Given the description of an element on the screen output the (x, y) to click on. 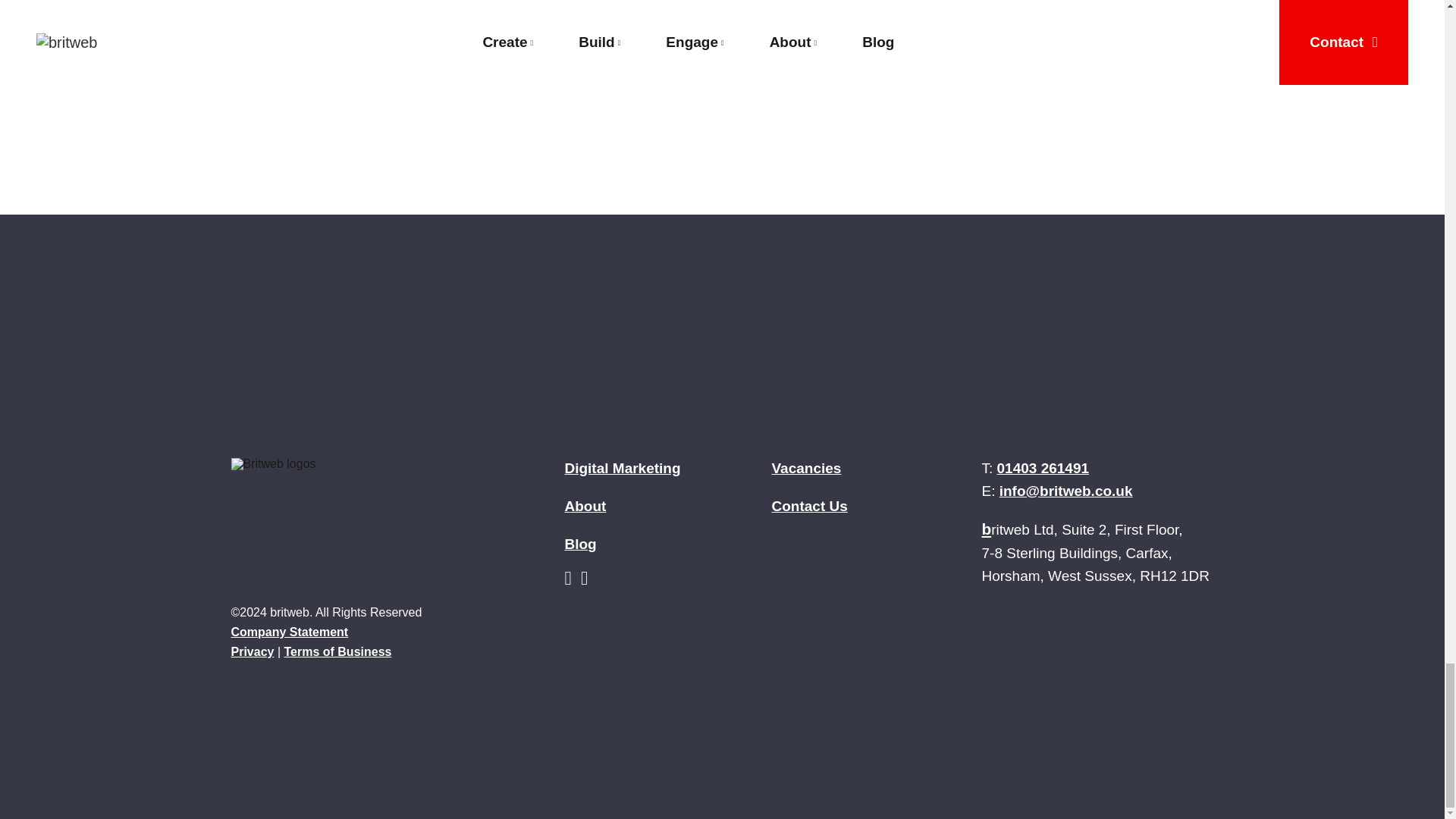
01403 261491 (1043, 467)
How can we make a difference for you? (722, 143)
Follow us on Facebook (587, 580)
Company Statement (288, 631)
Follow us on Linkedin (572, 580)
Contact Us (809, 505)
Privacy (251, 651)
About (584, 505)
Vacancies (806, 467)
Digital Marketing (621, 467)
Blog (579, 544)
